Given the description of an element on the screen output the (x, y) to click on. 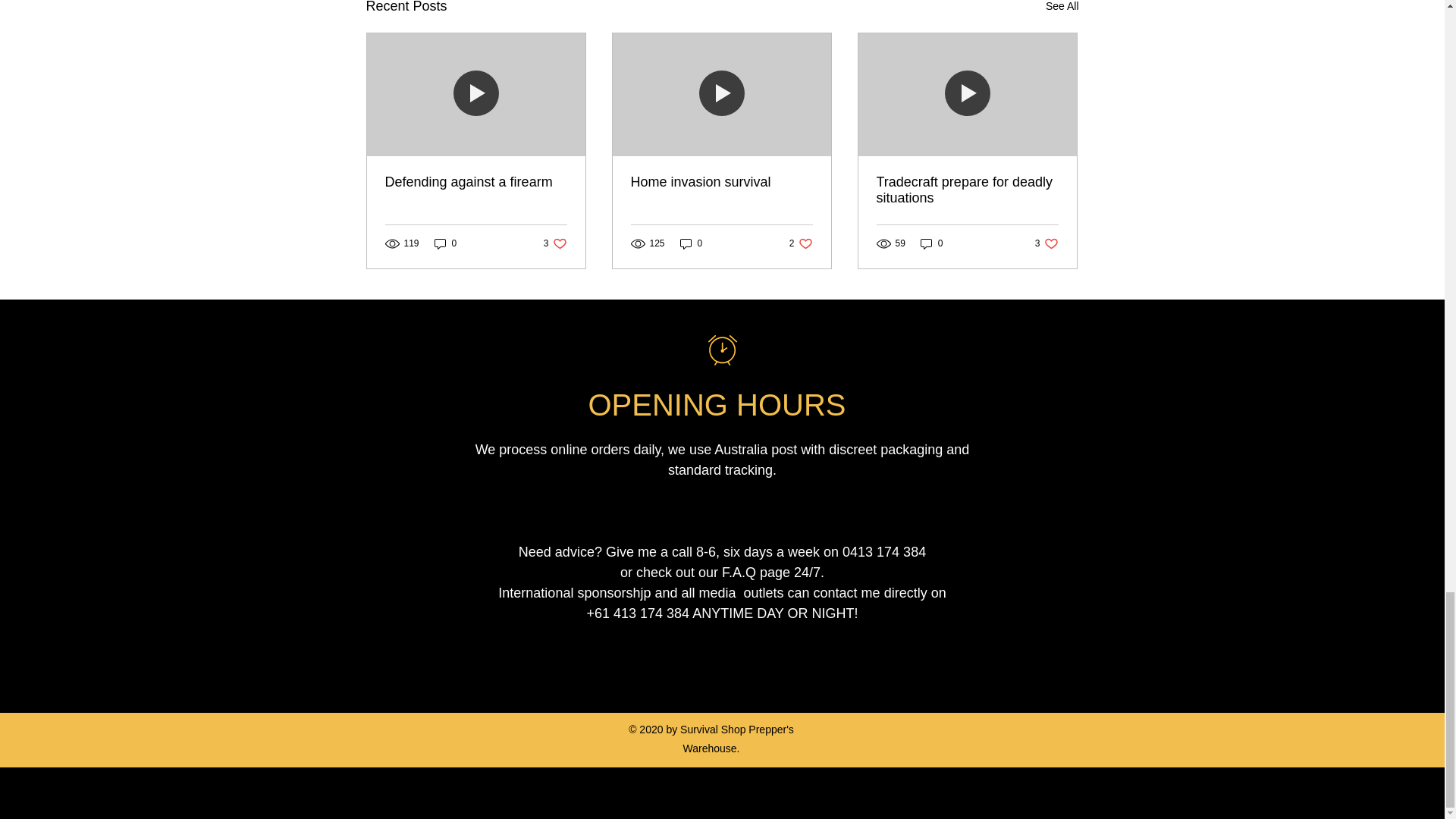
0 (445, 243)
Defending against a firearm (476, 182)
See All (1061, 8)
